Given the description of an element on the screen output the (x, y) to click on. 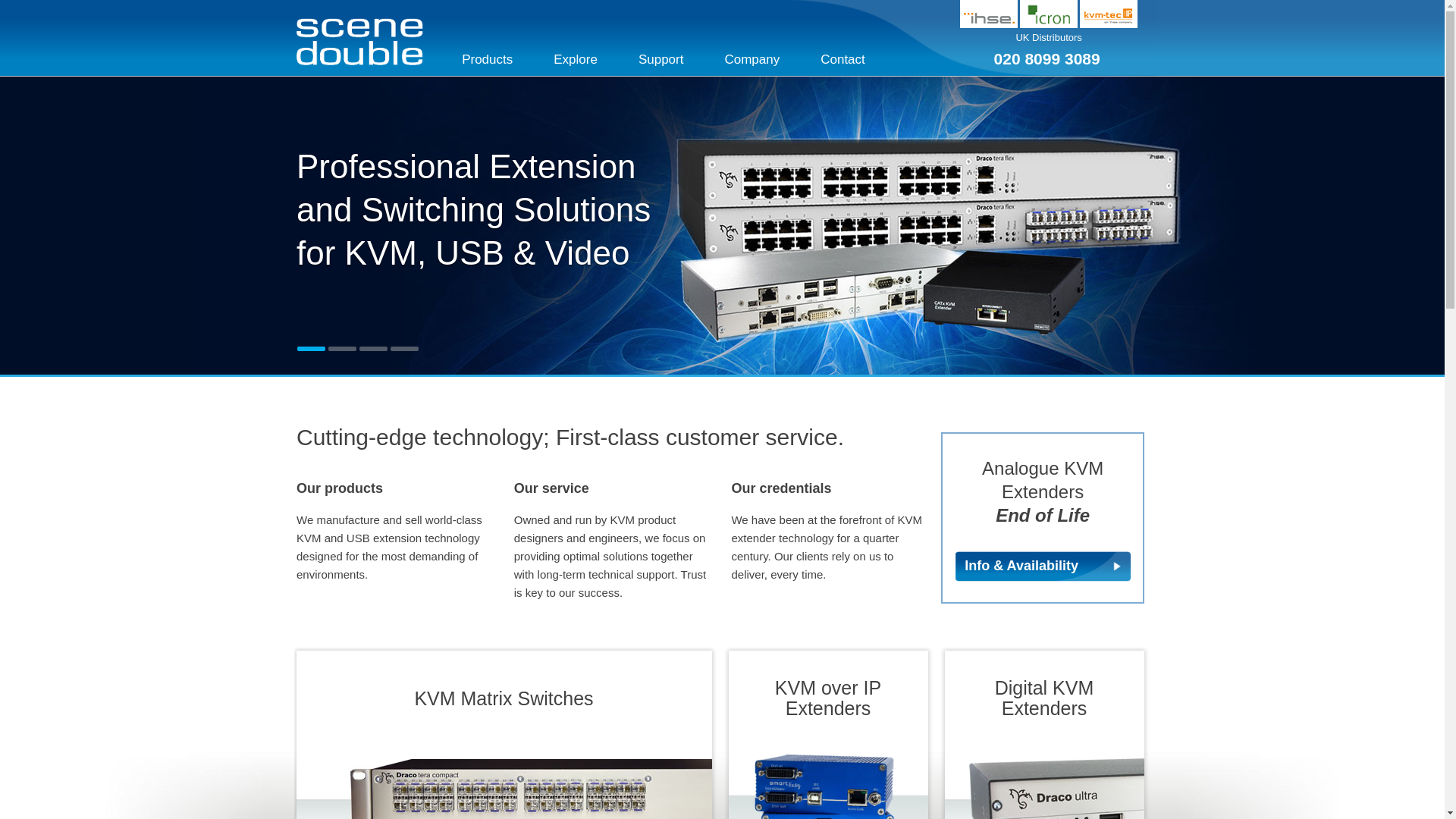
Digital KVM Extenders (1044, 782)
Products (486, 59)
KVM over IP Extenders (827, 782)
Explore (574, 59)
KVM Matrix Switches (503, 782)
